Given the description of an element on the screen output the (x, y) to click on. 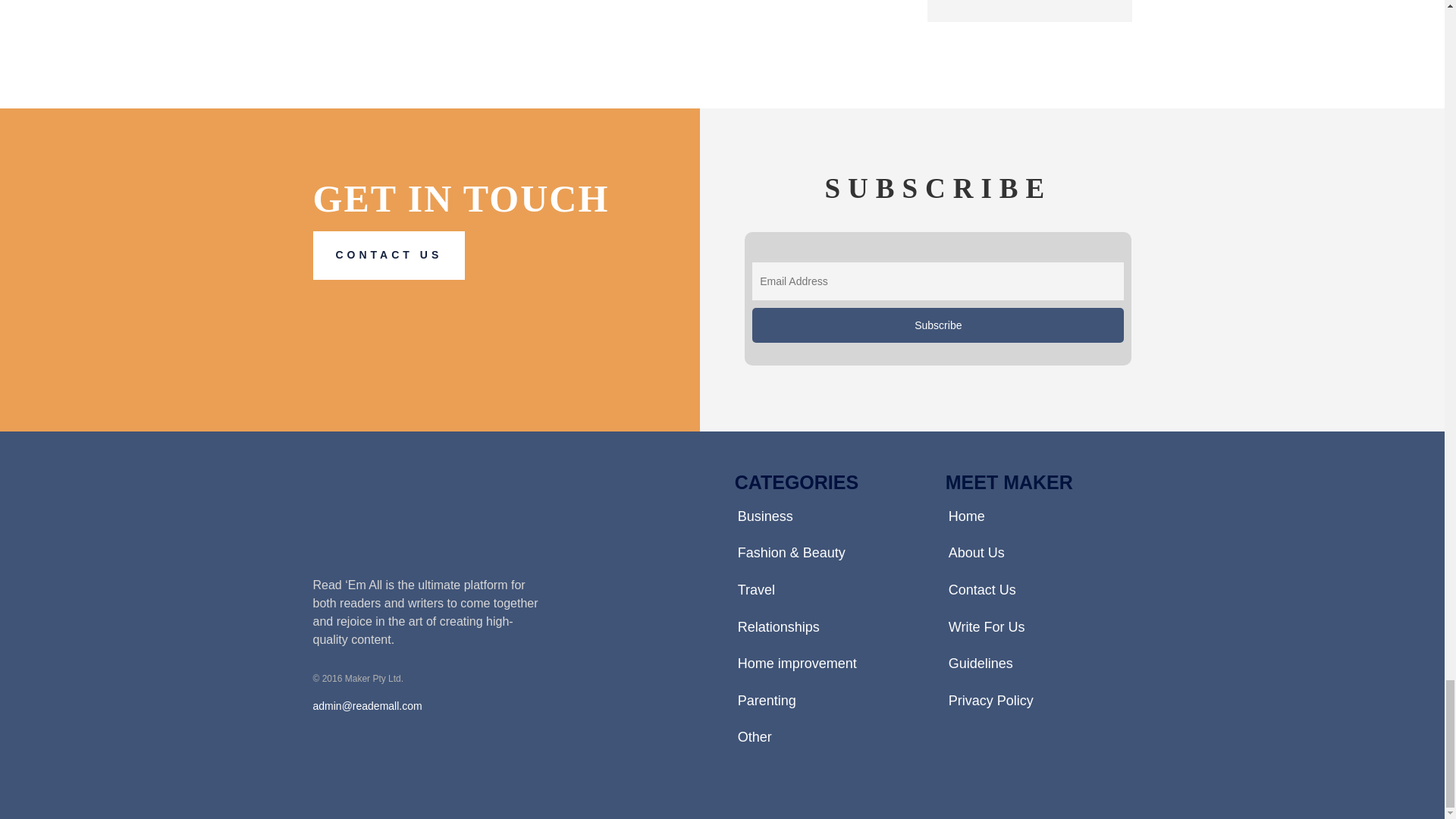
Subscribe (938, 325)
